Given the description of an element on the screen output the (x, y) to click on. 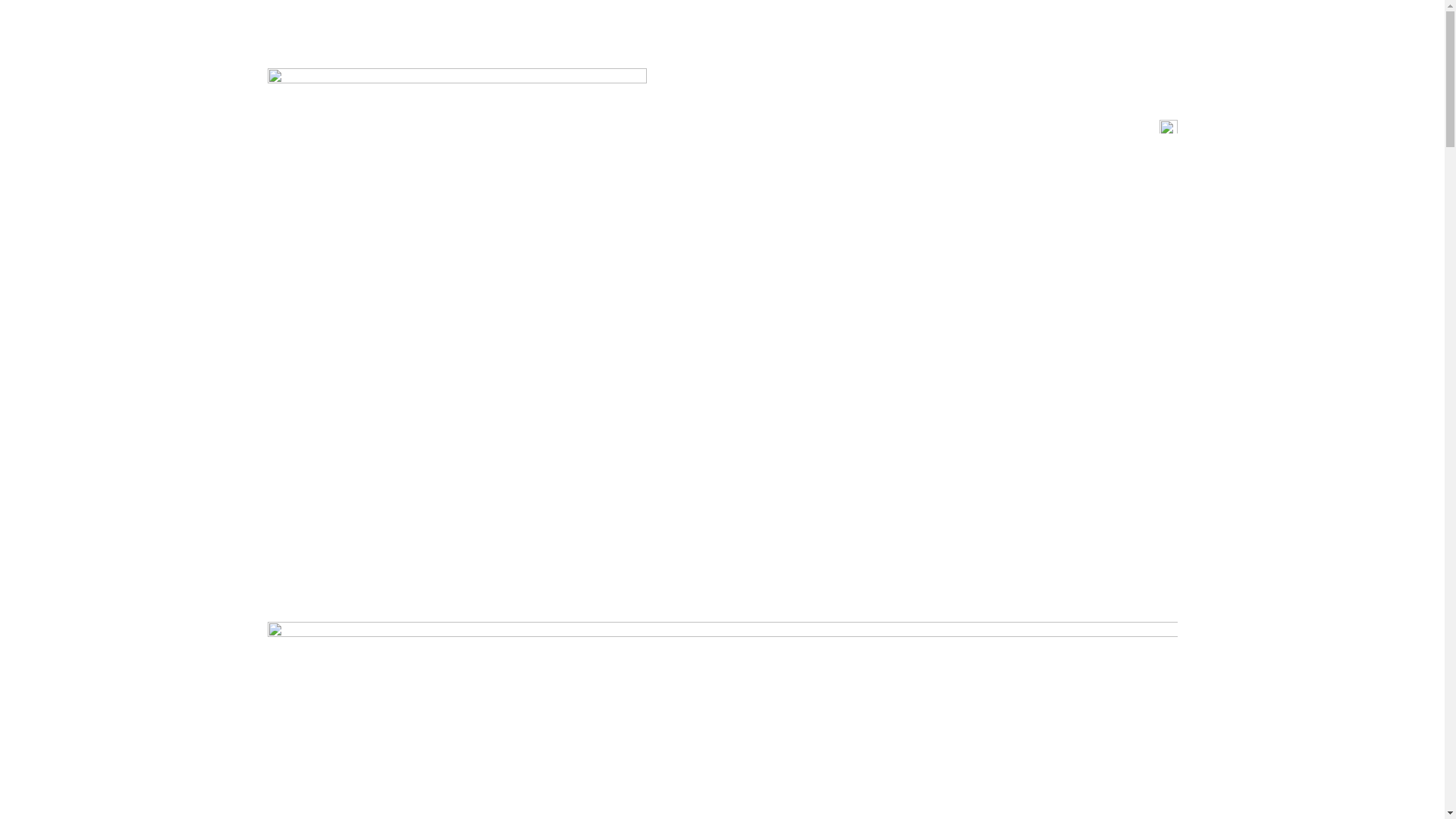
Support Element type: text (947, 126)
Sign In Element type: text (1053, 126)
Home Element type: text (846, 126)
Contact Element type: text (1001, 126)
Pricing Element type: text (895, 126)
test Element type: text (1158, 126)
Sign Up Element type: text (628, 473)
Sign Up Element type: text (1105, 126)
View Pricing Options Element type: text (770, 473)
